Given the description of an element on the screen output the (x, y) to click on. 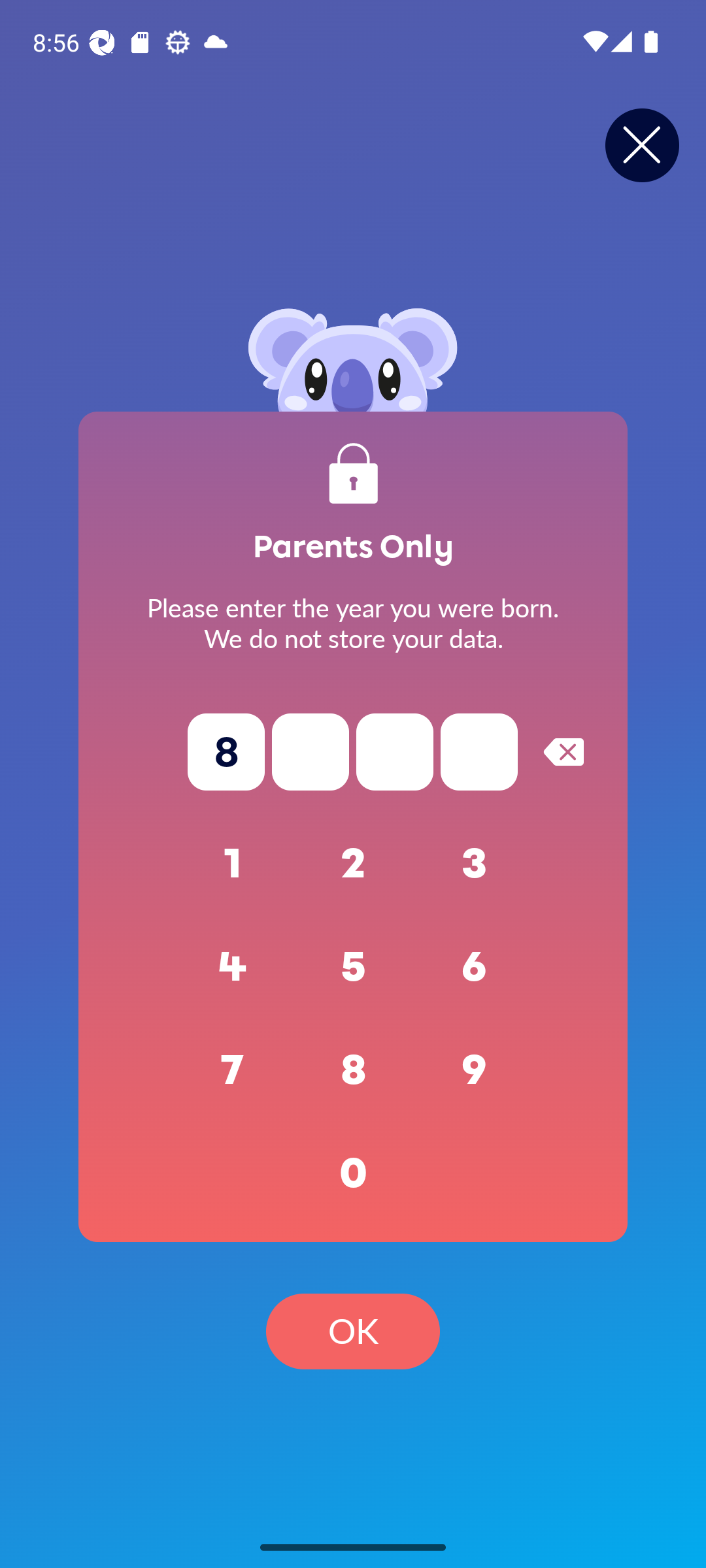
Delete (563, 751)
1 (232, 863)
2 (353, 863)
3 (474, 863)
4 (232, 966)
5 (353, 966)
6 (474, 966)
7 (232, 1069)
8 (353, 1069)
9 (474, 1069)
0 (353, 1173)
OK (352, 1331)
